Given the description of an element on the screen output the (x, y) to click on. 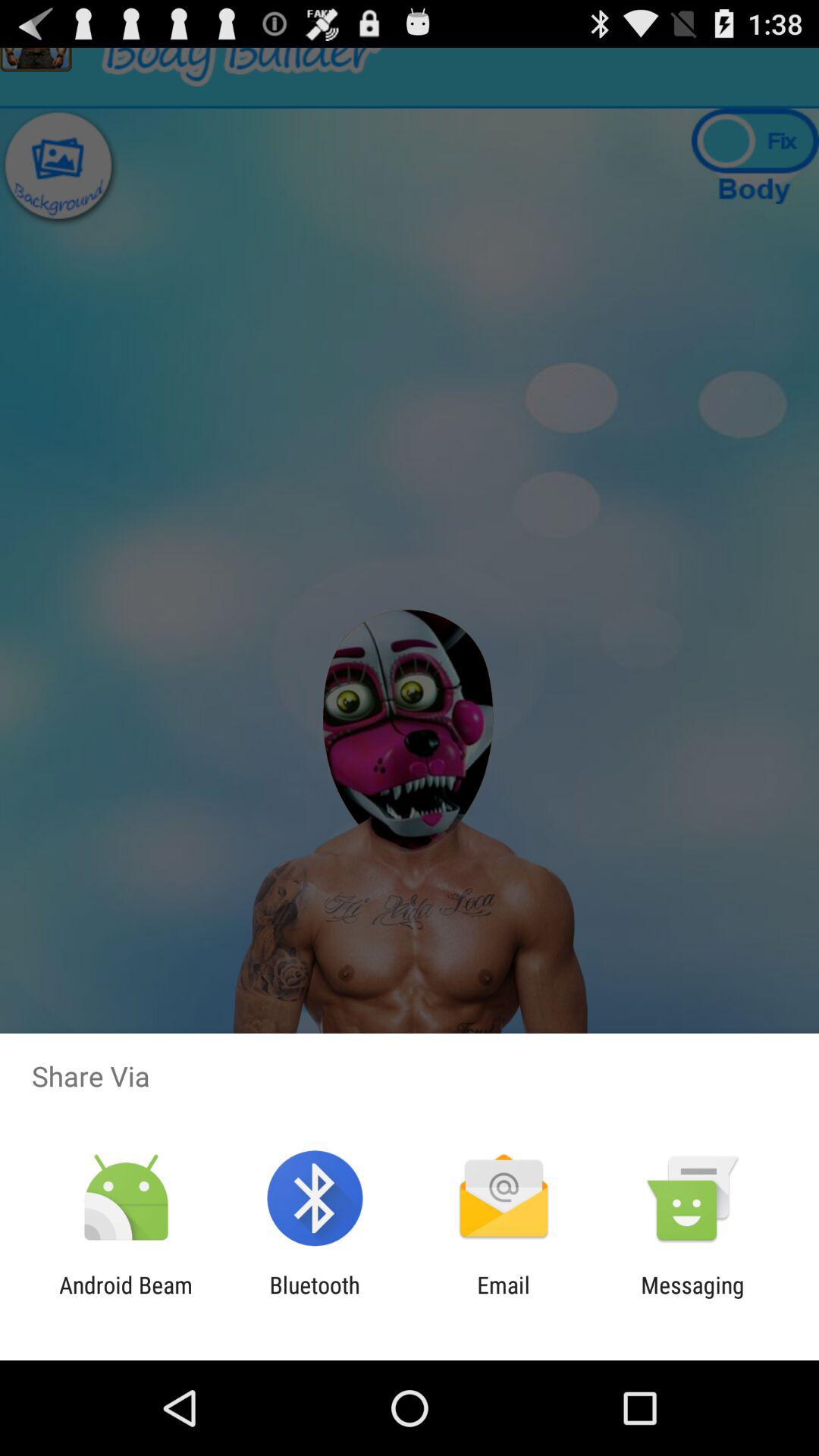
turn on the item next to bluetooth item (125, 1298)
